Given the description of an element on the screen output the (x, y) to click on. 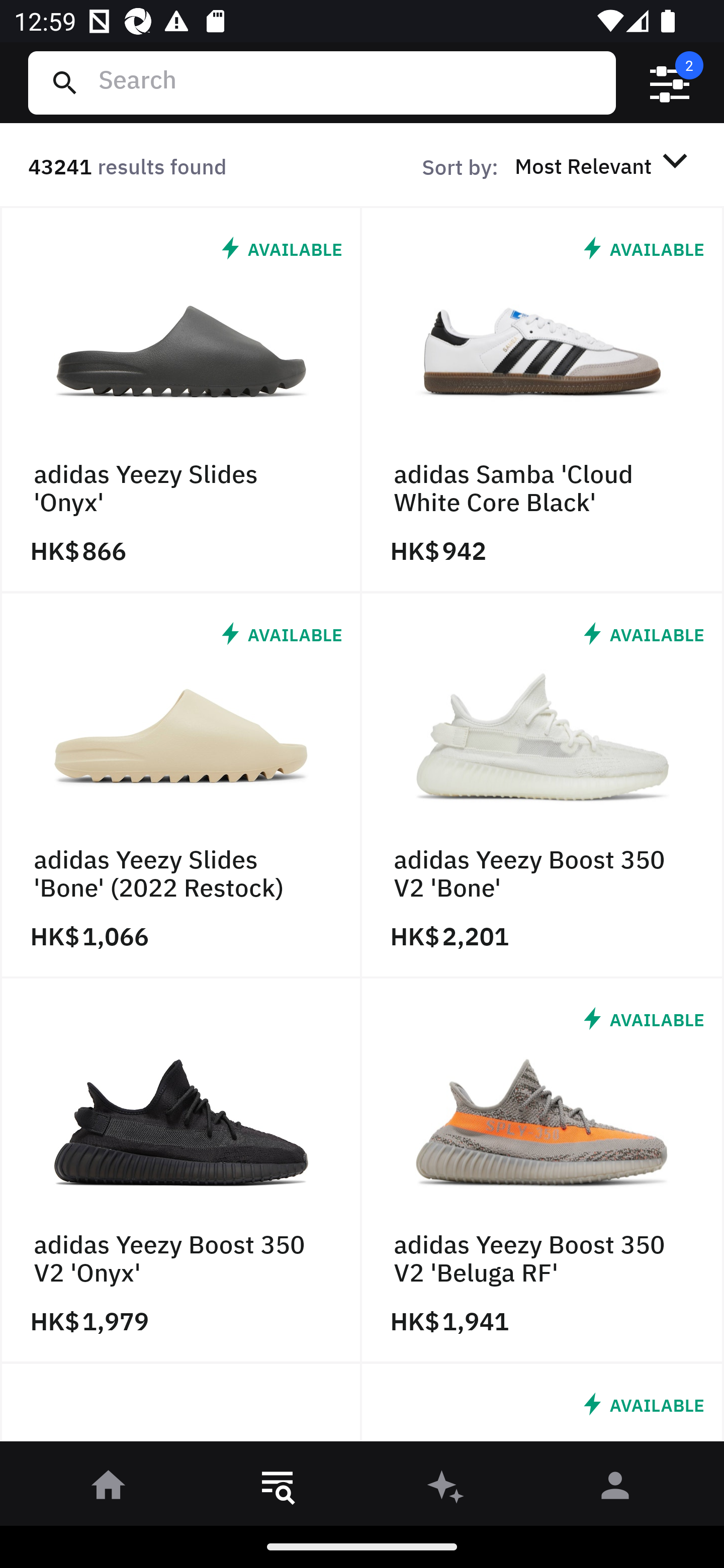
Search (349, 82)
 (669, 82)
Most Relevant  (604, 165)
 AVAILABLE adidas Yeezy Slides 'Onyx' HK$ 866 (181, 399)
adidas Yeezy Boost 350 V2 'Onyx' HK$ 1,979 (181, 1171)
󰋜 (108, 1488)
󱎸 (277, 1488)
󰫢 (446, 1488)
󰀄 (615, 1488)
